Given the description of an element on the screen output the (x, y) to click on. 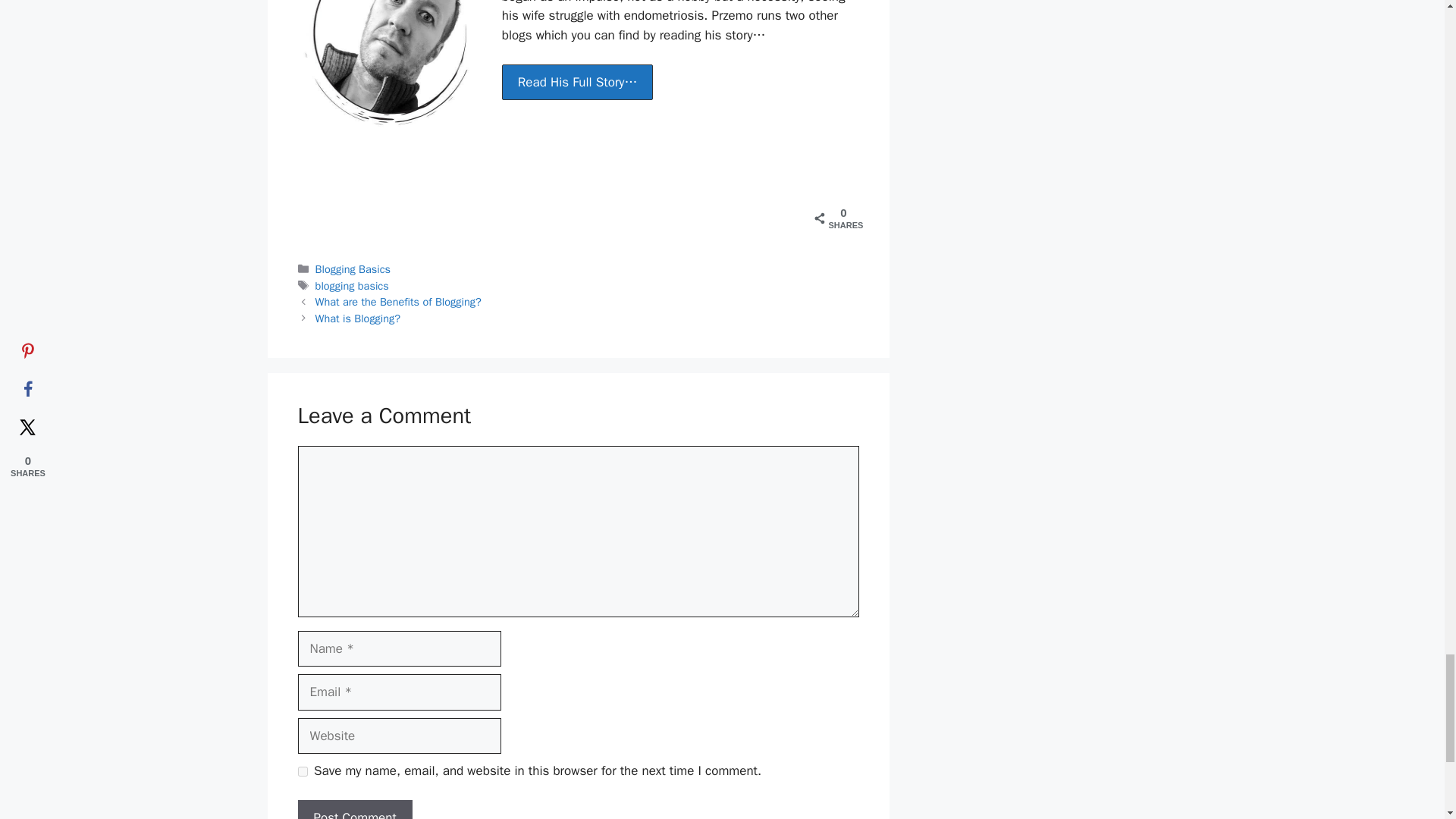
Post Comment (354, 809)
yes (302, 771)
